Given the description of an element on the screen output the (x, y) to click on. 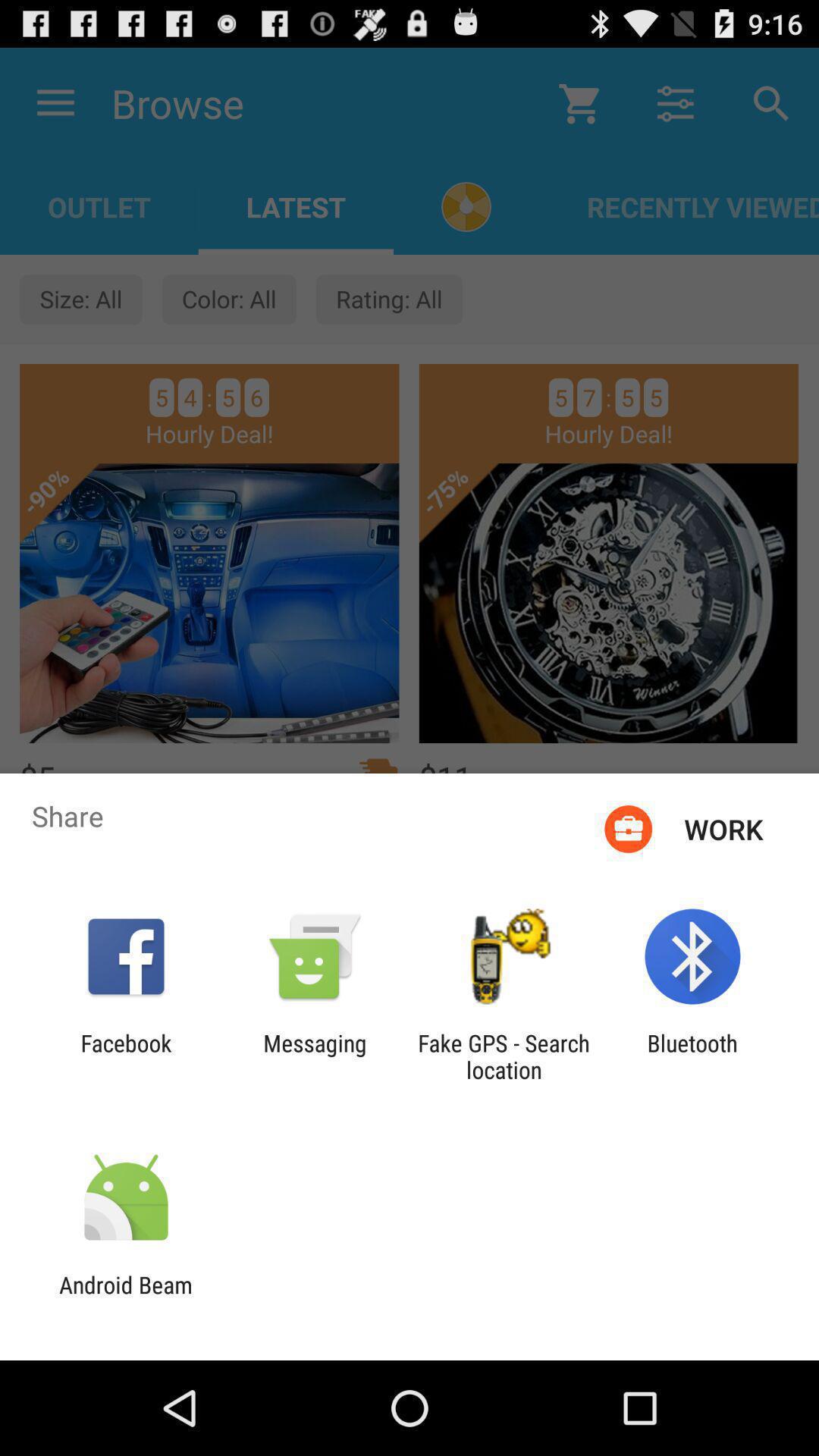
turn on the item at the bottom right corner (692, 1056)
